Given the description of an element on the screen output the (x, y) to click on. 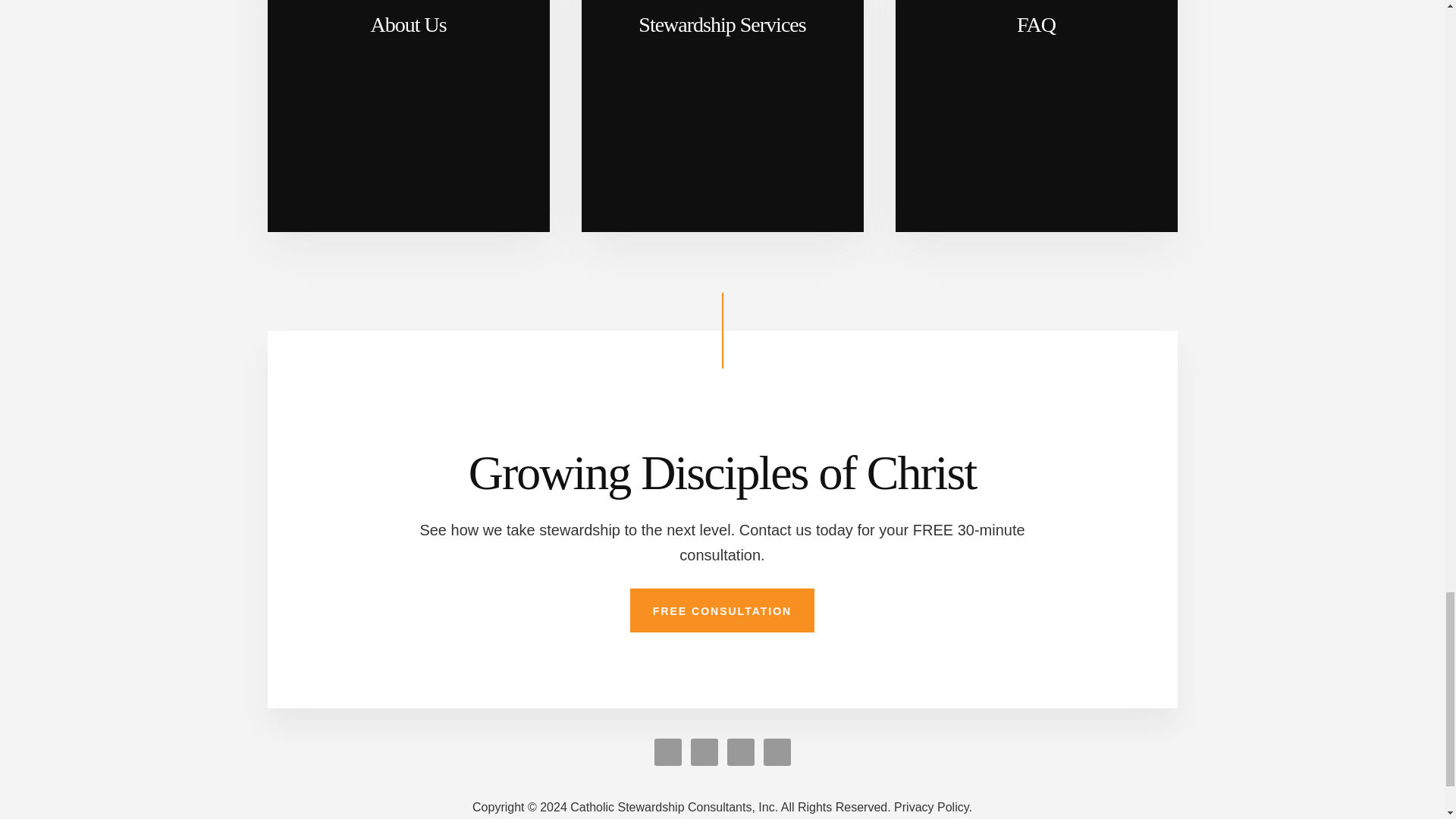
Catholic Stewardship Consultants, Inc. (681, 807)
Privacy Policy (932, 807)
About Us (407, 115)
Stewardship Services (721, 115)
